Given the description of an element on the screen output the (x, y) to click on. 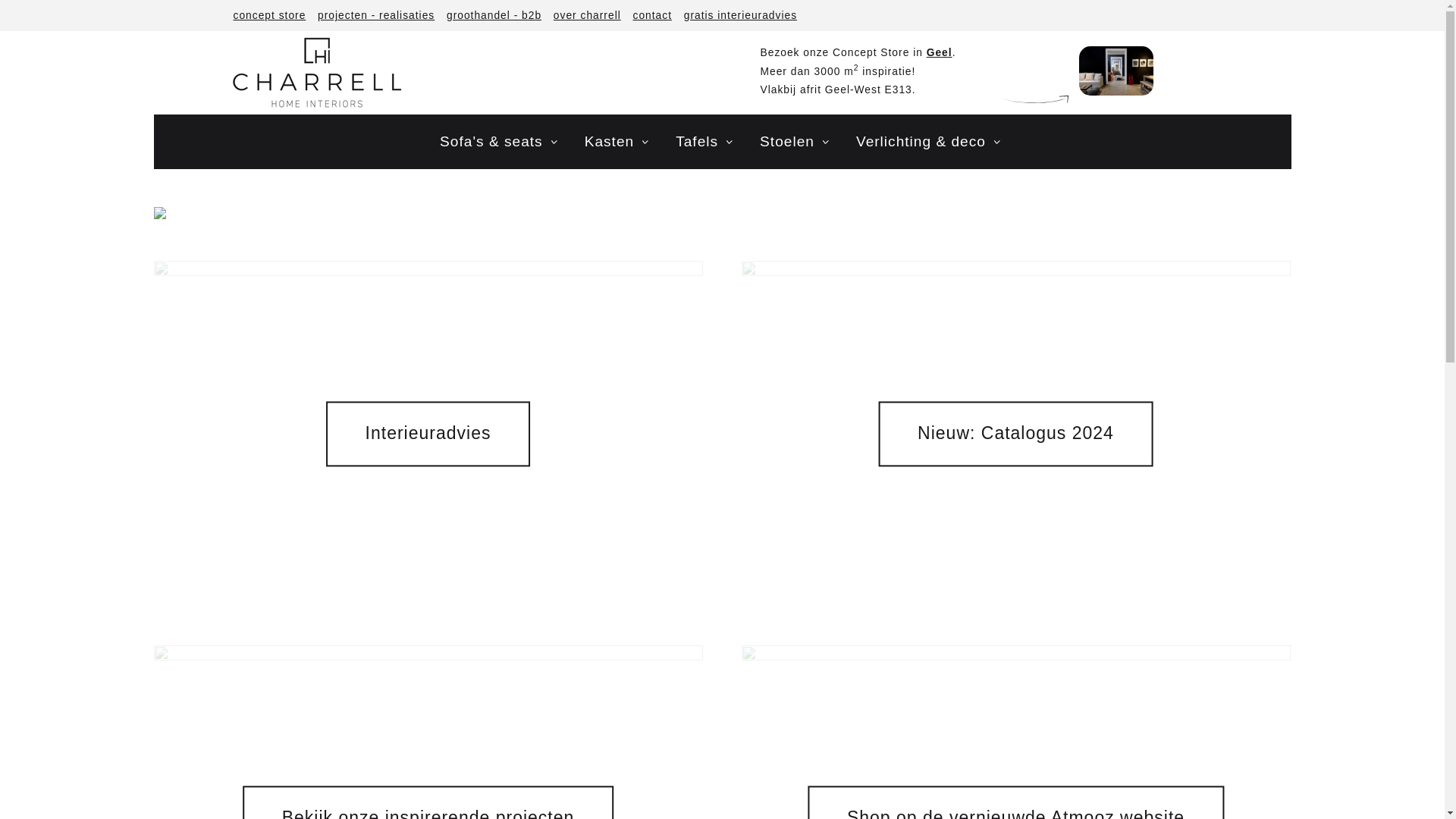
Charrell Home Interiors Element type: hover (316, 72)
kasten Element type: text (619, 141)
Charrell Home Interiors Element type: hover (318, 72)
over charrell Element type: text (586, 15)
stoelen Element type: text (796, 141)
Geel Element type: text (939, 52)
concept store Element type: text (269, 15)
Project VOT Element type: hover (163, 214)
Nieuw: Catalogus 2024 Element type: text (1015, 433)
gratis interieuradvies Element type: text (740, 15)
groothandel - b2b Element type: text (493, 15)
Interieuradvies Element type: text (427, 433)
projecten - realisaties Element type: text (375, 15)
tafels Element type: text (706, 141)
sofa's & seats Element type: text (500, 141)
contact Element type: text (652, 15)
Overslaan en naar de algemene inhoud gaan Element type: text (144, 0)
Charrell - concept stores Element type: hover (1115, 69)
